Given the description of an element on the screen output the (x, y) to click on. 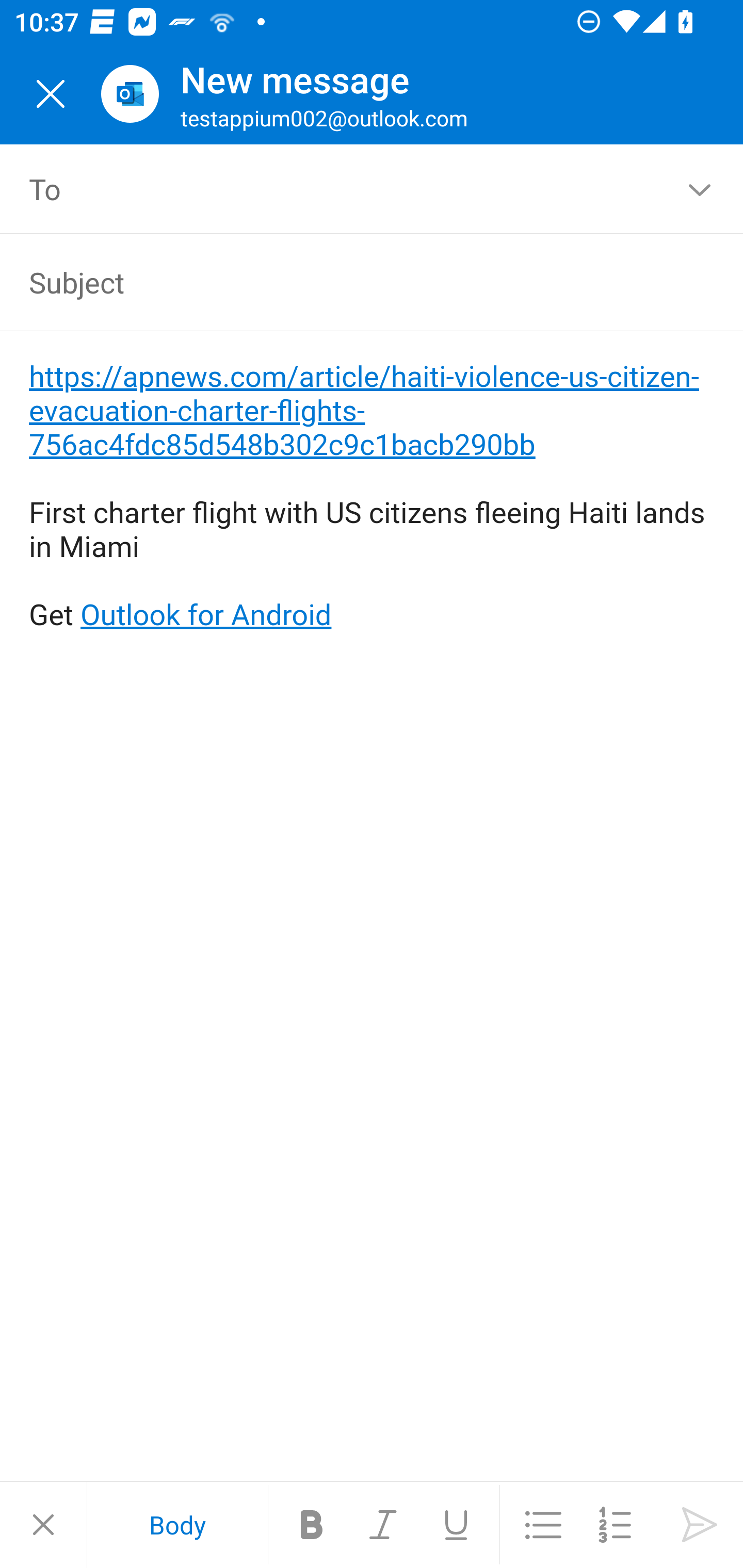
Close (50, 93)
Subject (342, 281)
Close (43, 1524)
Send (699, 1524)
Font style button body Body (176, 1524)
Bold (311, 1524)
Italics (384, 1524)
Underline (456, 1524)
Bulleted list (543, 1524)
Numbered list (615, 1524)
